Given the description of an element on the screen output the (x, y) to click on. 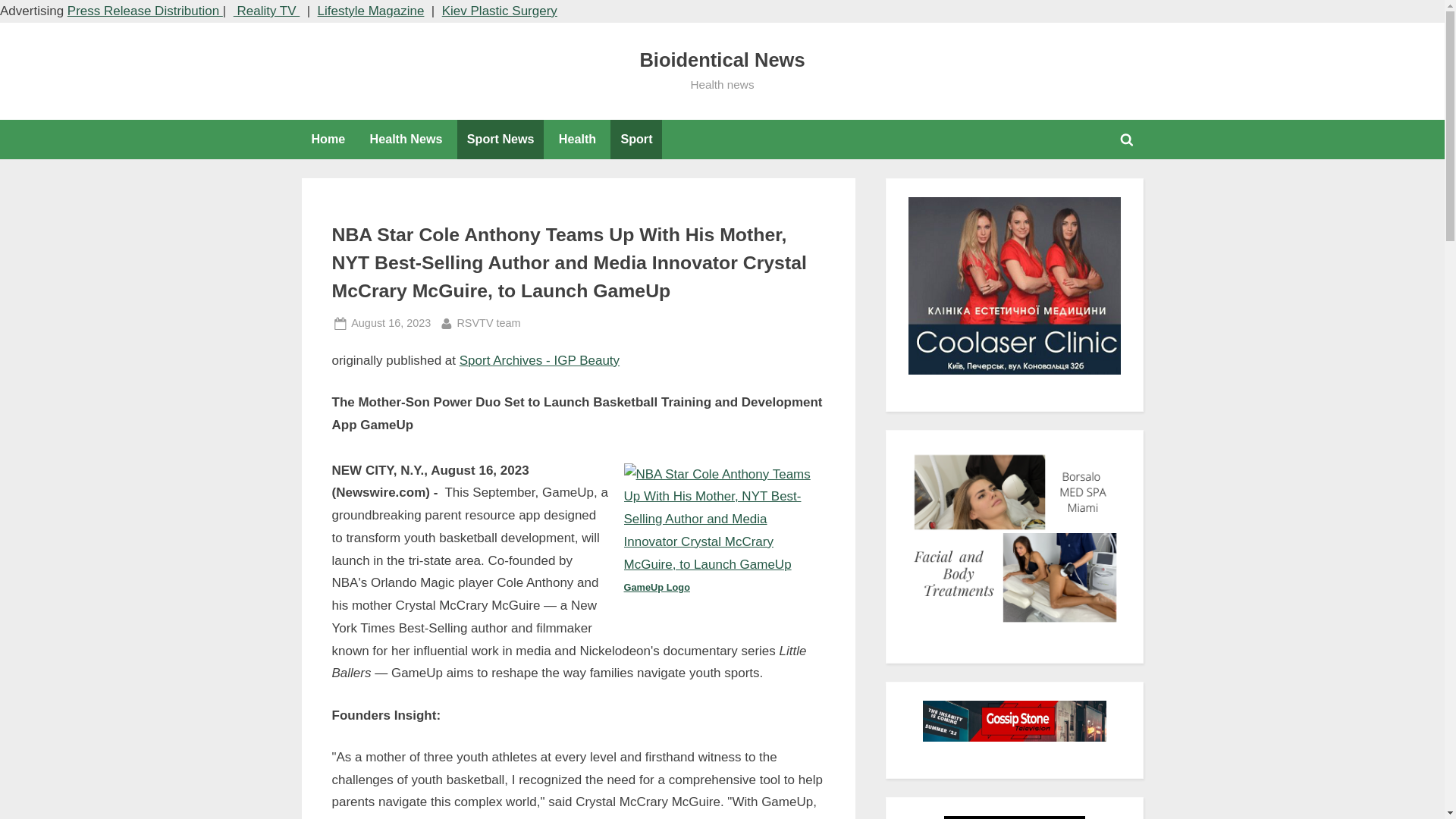
Press Release Distribution (144, 11)
Bioidentical News (722, 59)
Health (576, 138)
Health News (405, 138)
Sport Archives - IGP Beauty (540, 359)
Sport (636, 138)
Sport News (500, 138)
Toggle search form (1126, 139)
GameUp Logo (722, 575)
Kiev Plastic Surgery (499, 11)
Lifestyle Magazine (390, 322)
Home (371, 11)
